Given the description of an element on the screen output the (x, y) to click on. 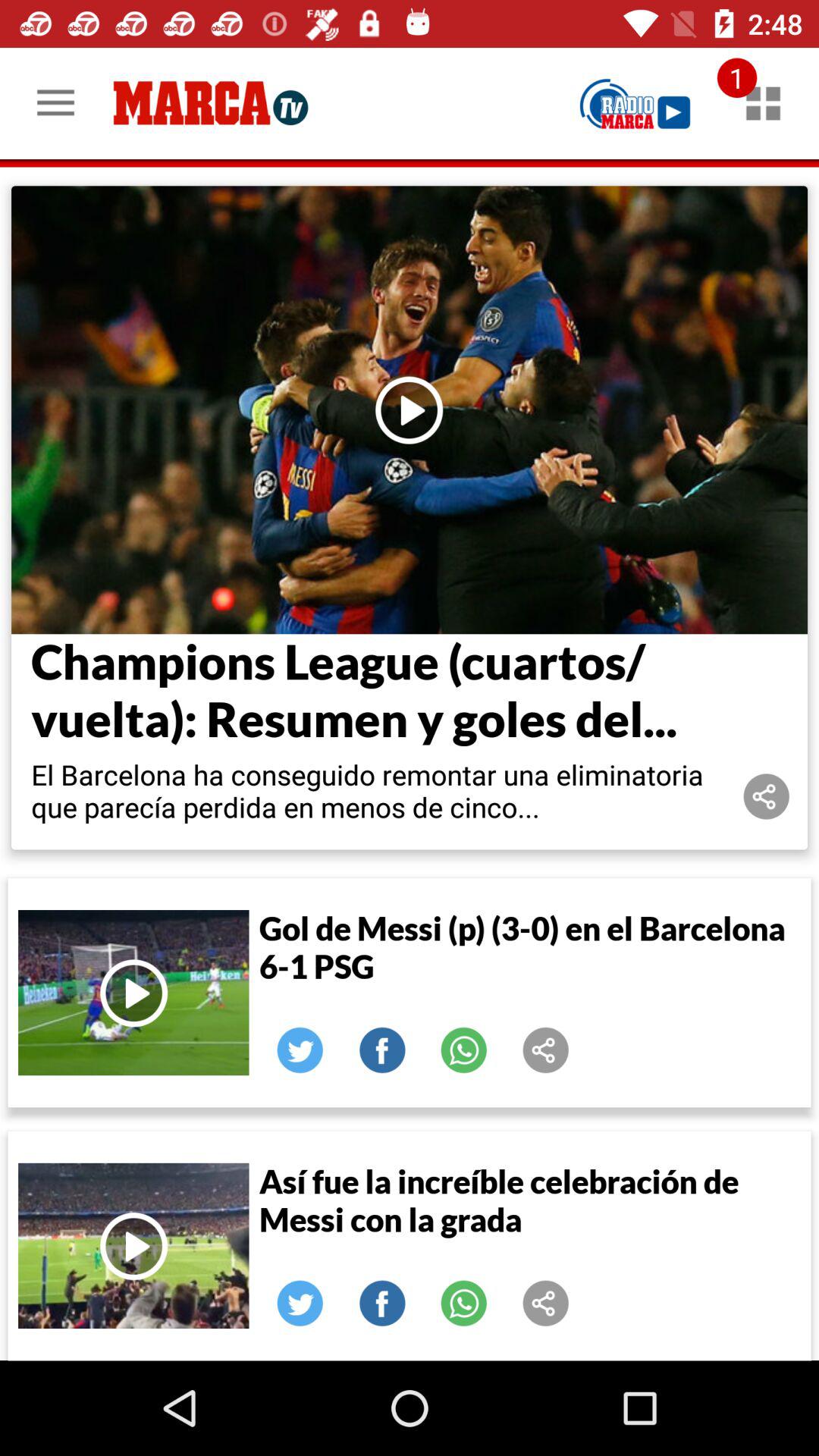
share on whatsapp (464, 1303)
